Given the description of an element on the screen output the (x, y) to click on. 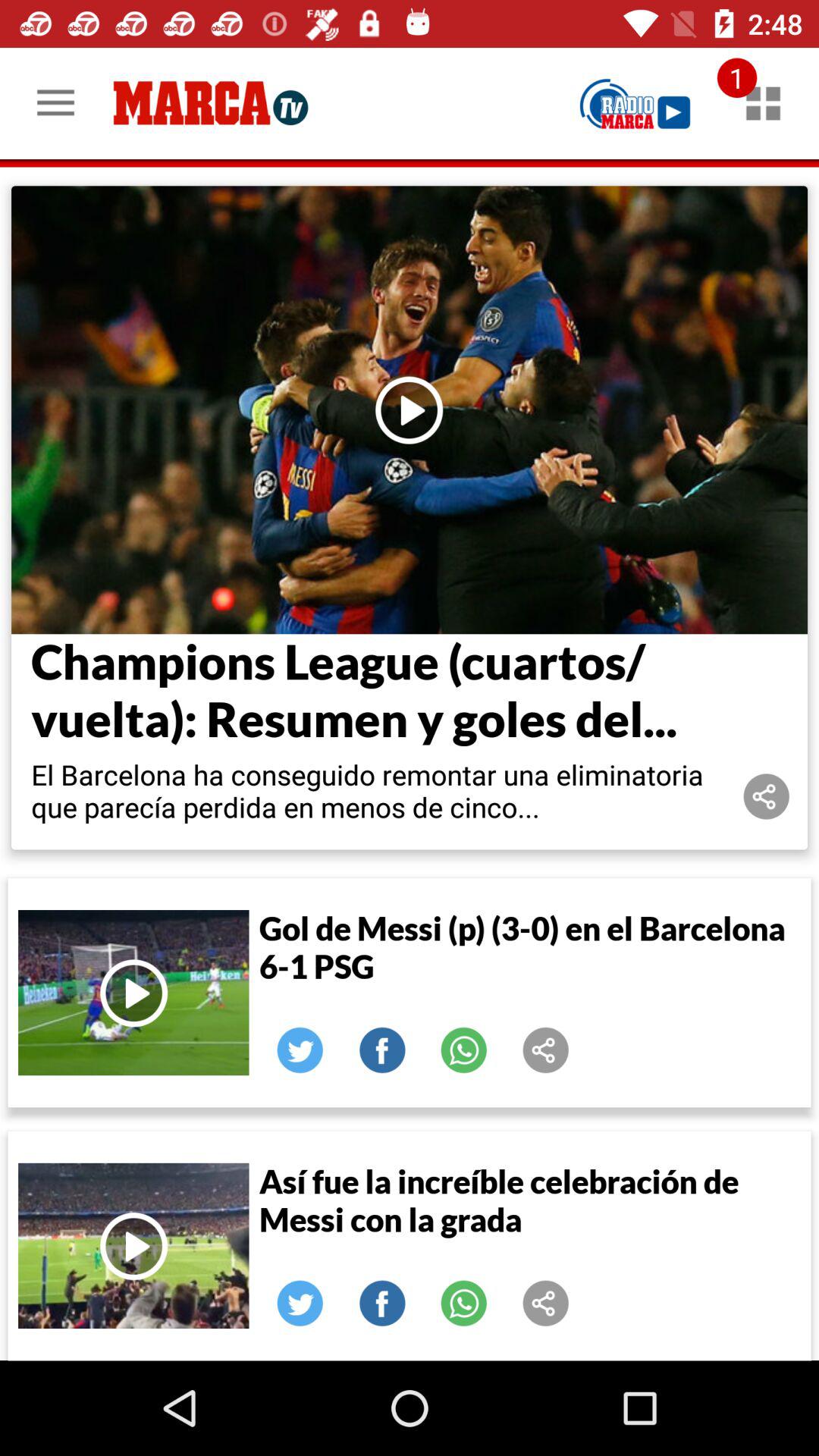
share on whatsapp (464, 1303)
